Given the description of an element on the screen output the (x, y) to click on. 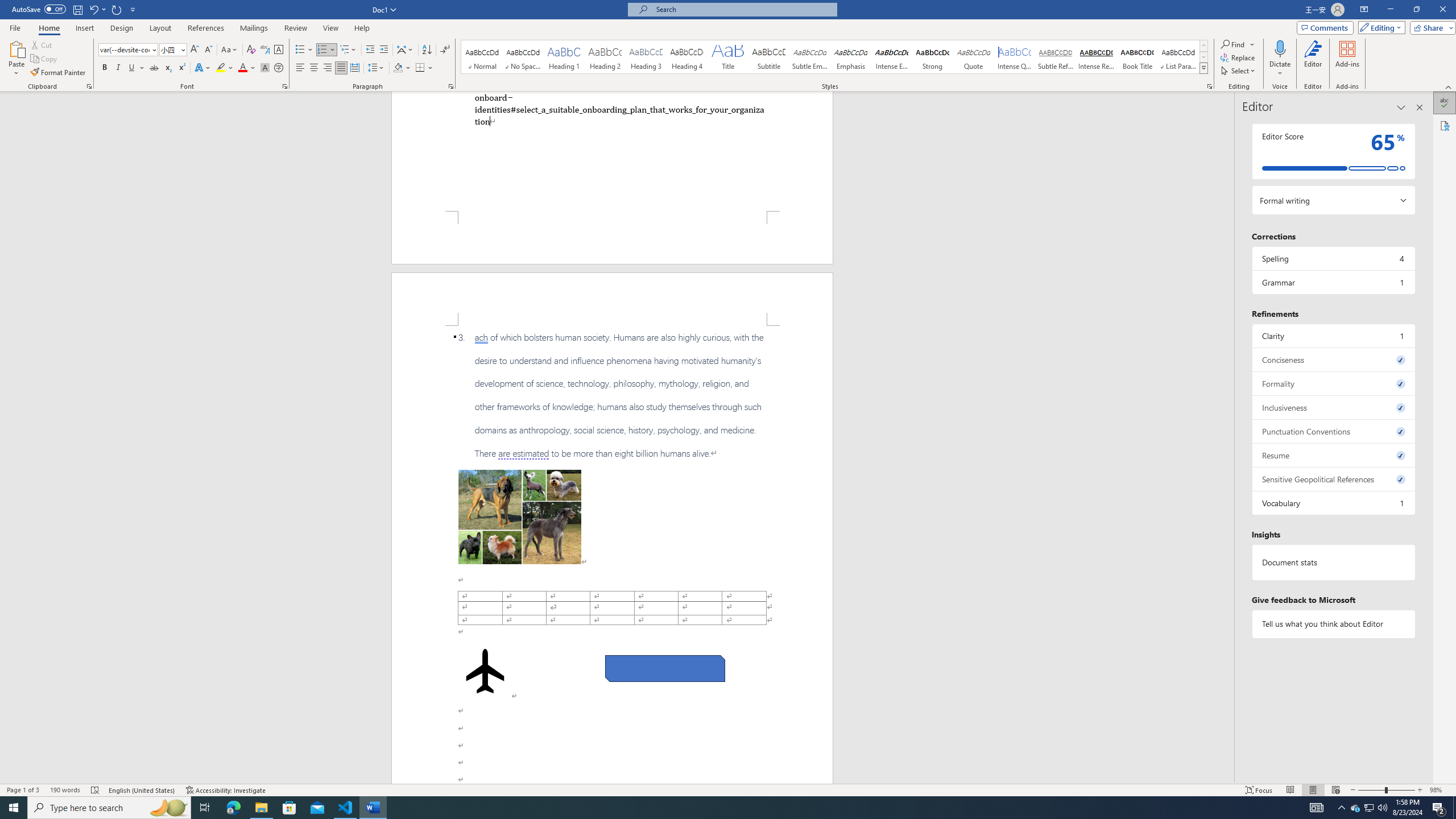
Quote (973, 56)
